Given the description of an element on the screen output the (x, y) to click on. 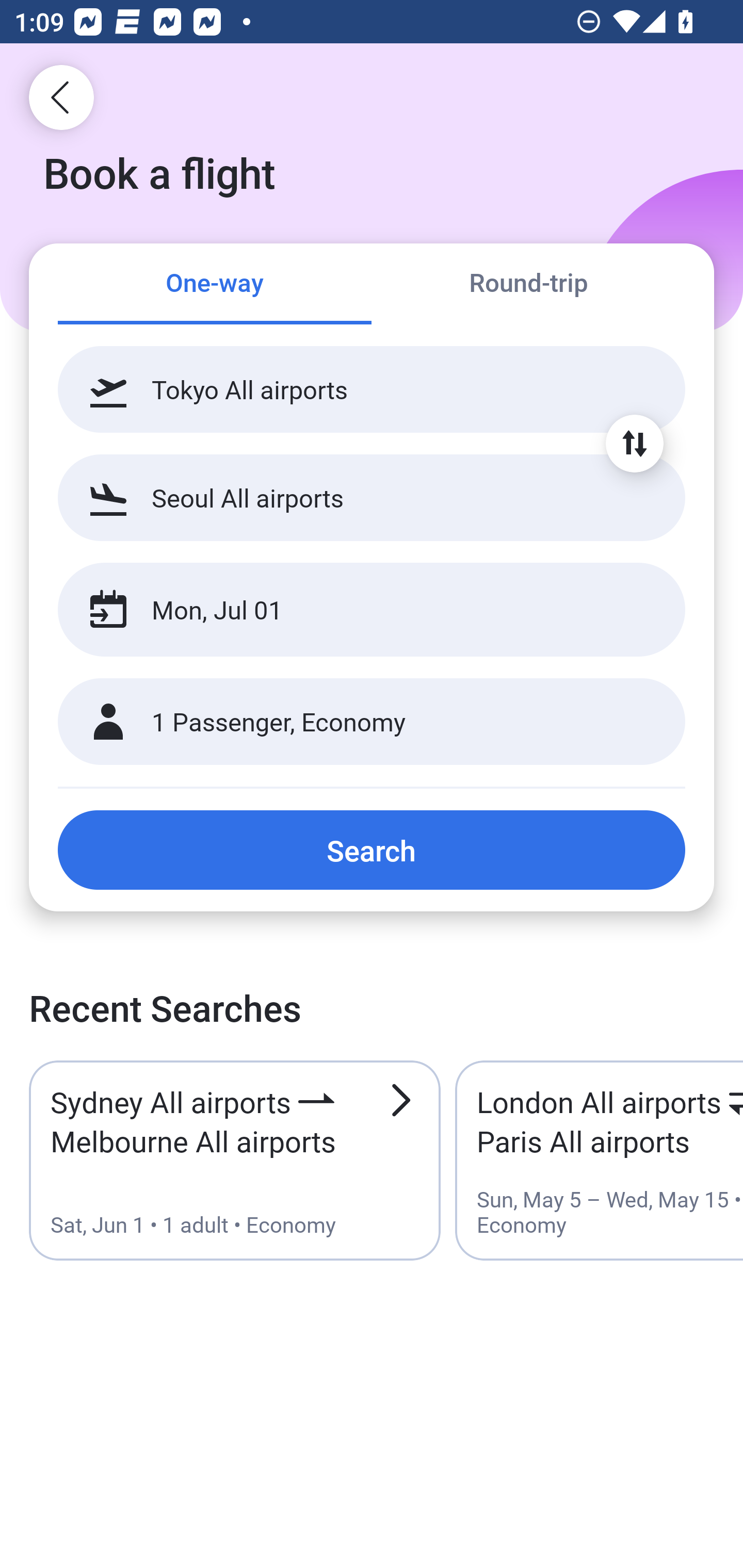
Round-trip (528, 284)
Tokyo All airports (371, 389)
Seoul All airports (371, 497)
Mon, Jul 01 (349, 609)
1 Passenger, Economy (371, 721)
Search (371, 849)
